Given the description of an element on the screen output the (x, y) to click on. 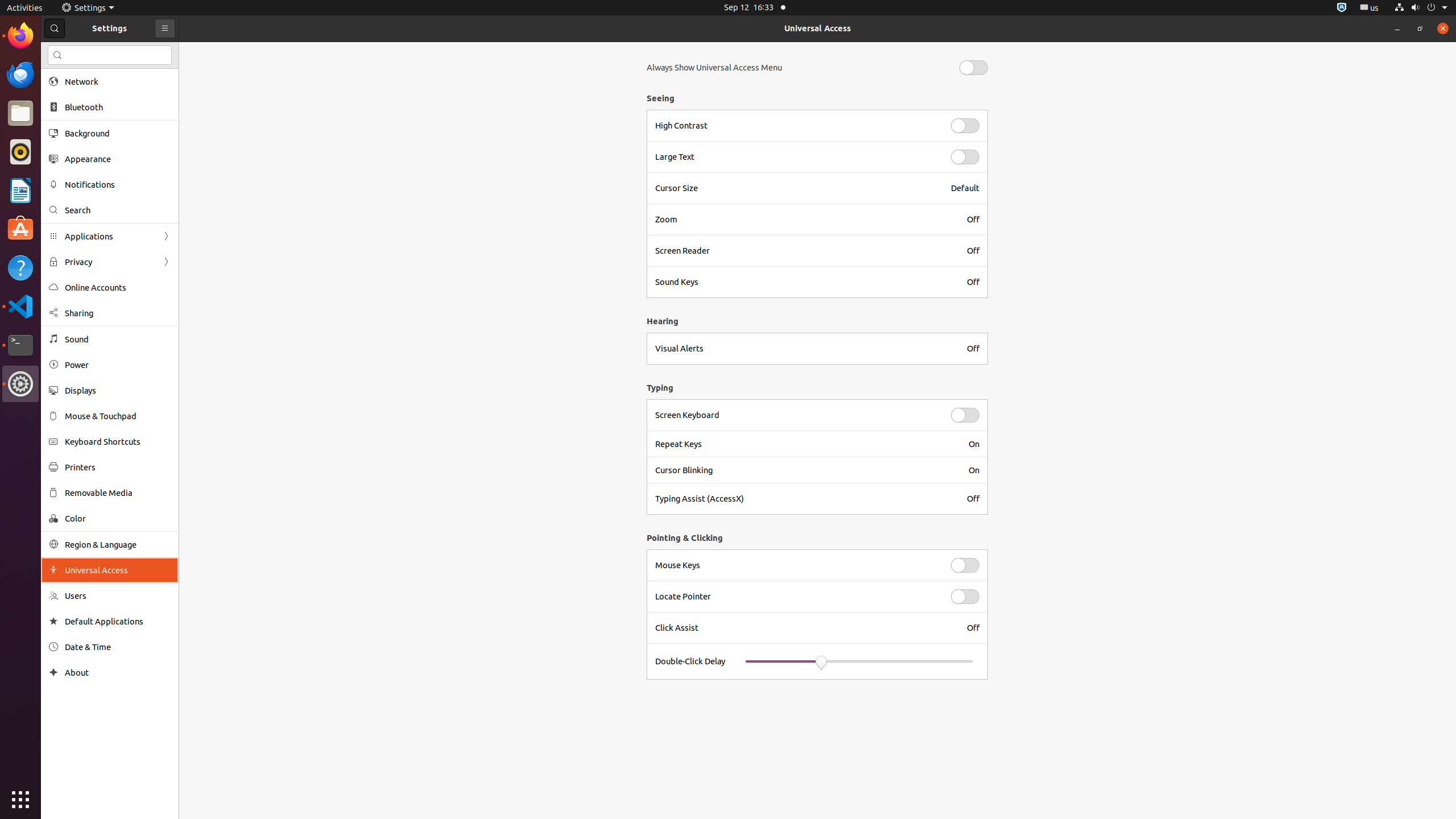
Keyboard Shortcuts Element type: label (117, 441)
Firefox Web Browser Element type: push-button (20, 35)
Typing Element type: label (813, 387)
Repeat Keys Element type: label (804, 443)
